Given the description of an element on the screen output the (x, y) to click on. 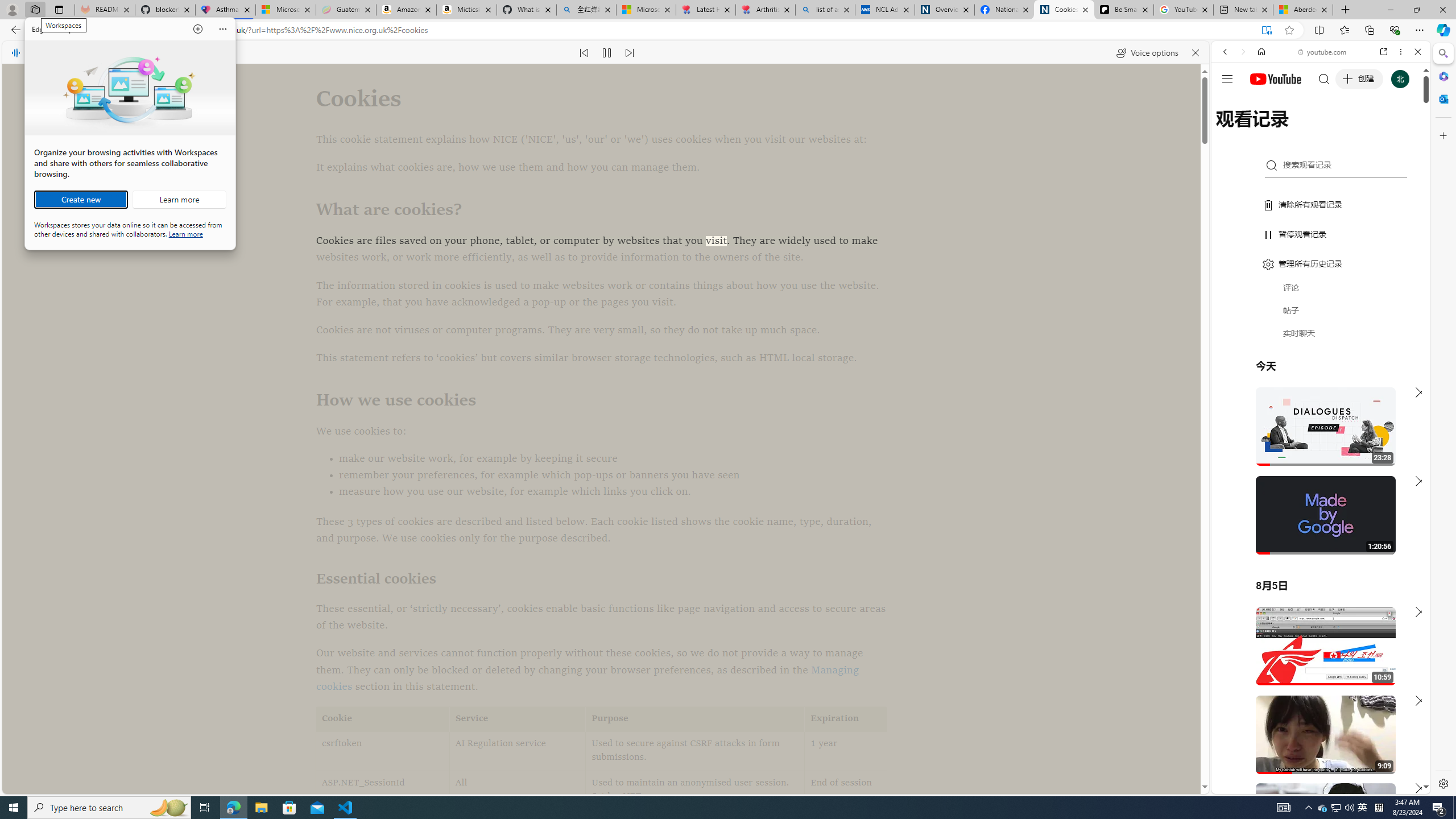
Voice options (1146, 52)
Expiration (844, 718)
Close read aloud (1195, 52)
Visual Studio Code - 1 running window (345, 807)
Create new workspace (80, 199)
Aberdeen, Hong Kong SAR hourly forecast | Microsoft Weather (1303, 9)
Show More Music (1390, 310)
This site scope (1259, 102)
Trailer #2 [HD] (1320, 336)
